Given the description of an element on the screen output the (x, y) to click on. 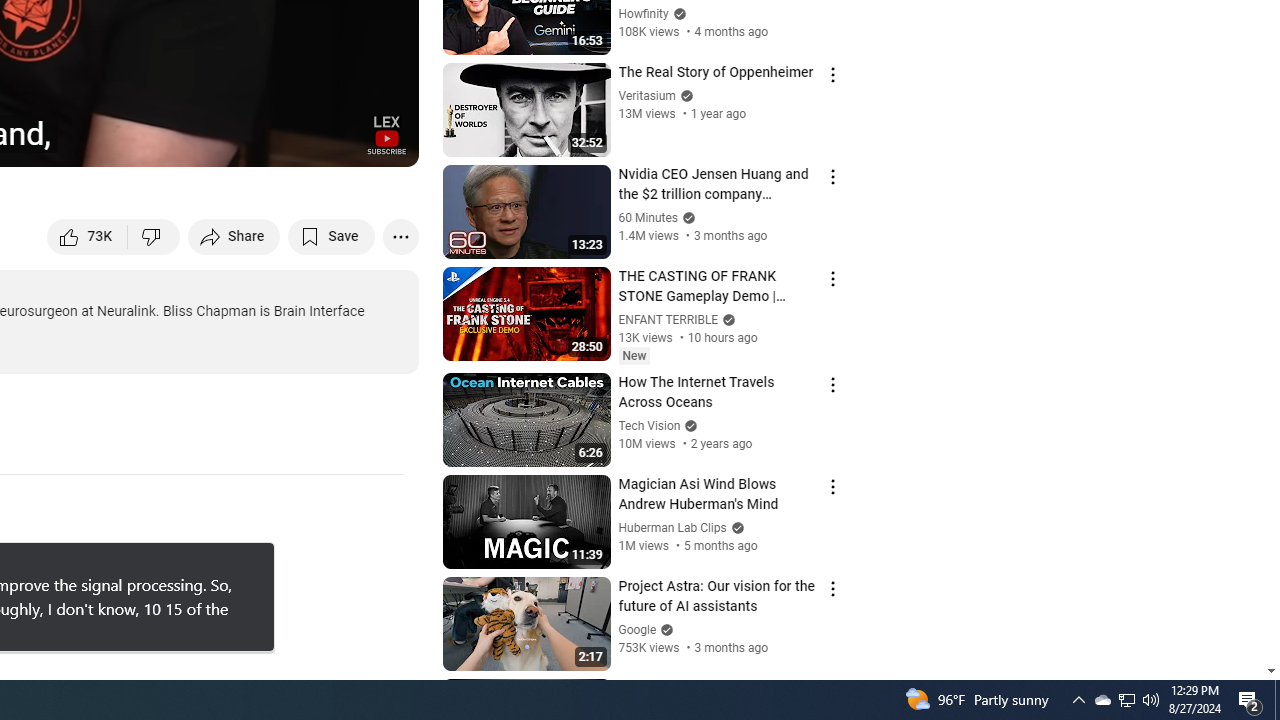
Channel watermark (386, 134)
Save to playlist (331, 236)
Action menu (832, 690)
